Given the description of an element on the screen output the (x, y) to click on. 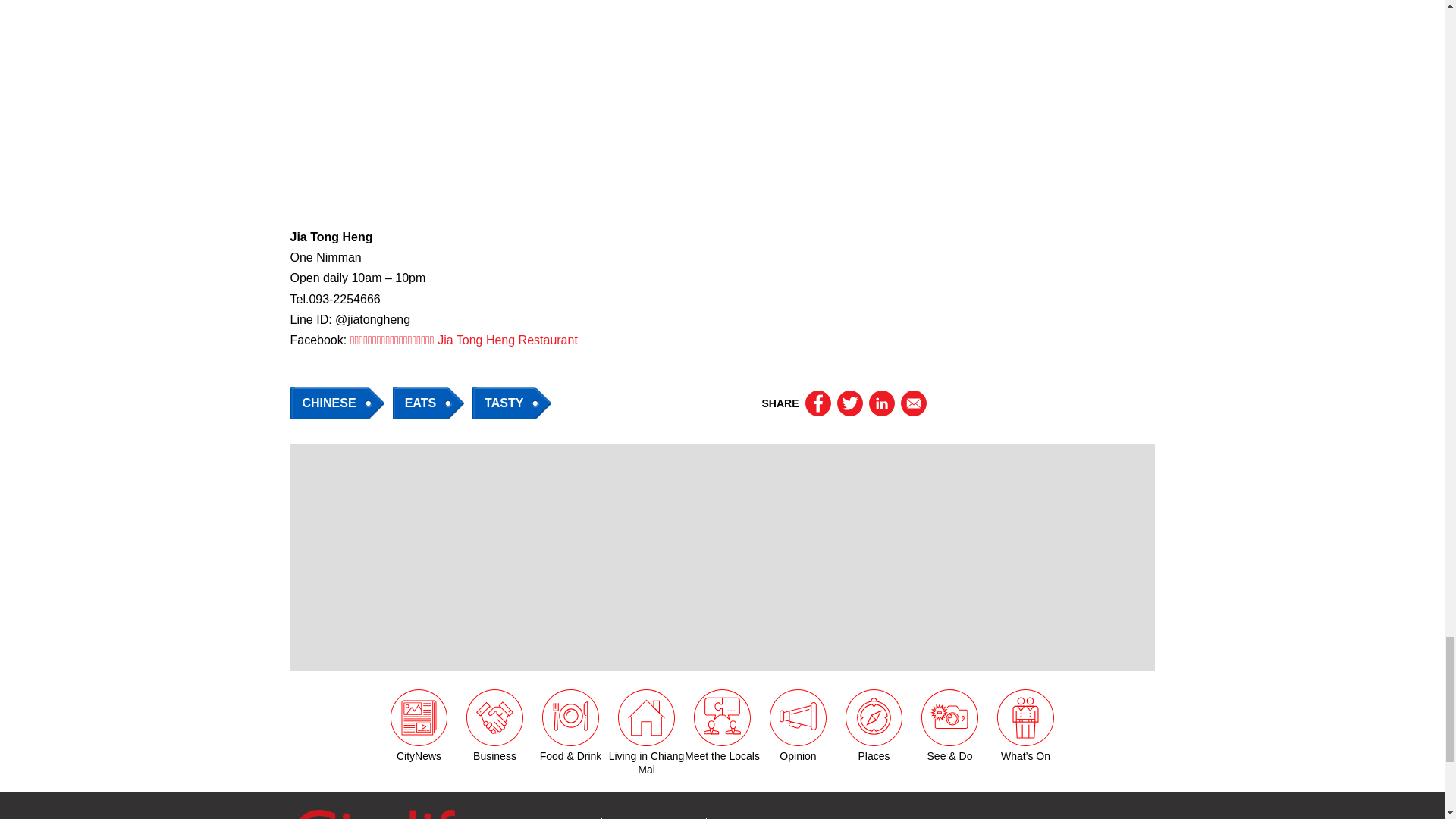
Chiang Mai Citylife (386, 811)
